Given the description of an element on the screen output the (x, y) to click on. 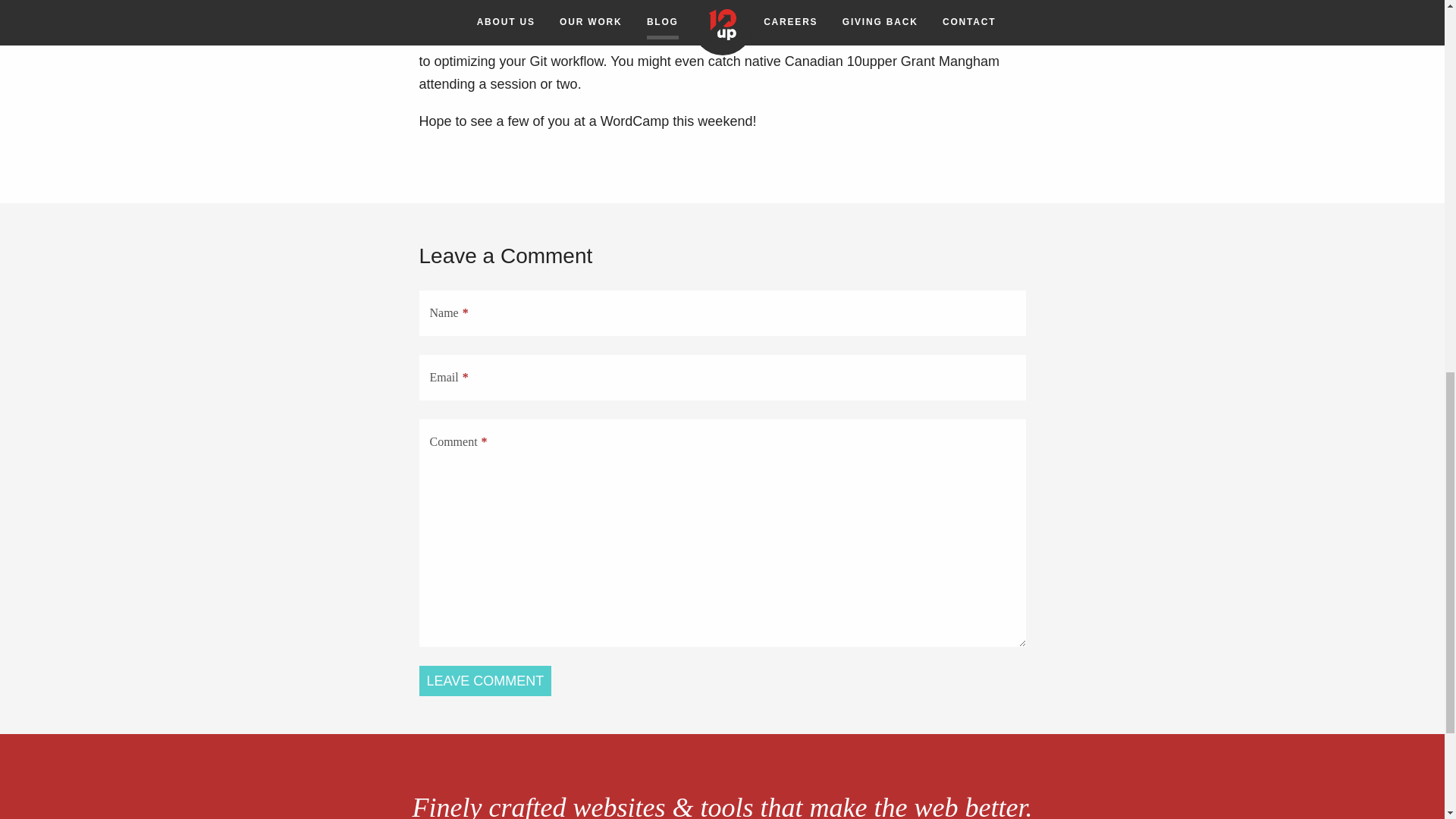
Workflows with Git (658, 37)
Leave Comment (485, 680)
Leave Comment (485, 680)
